Given the description of an element on the screen output the (x, y) to click on. 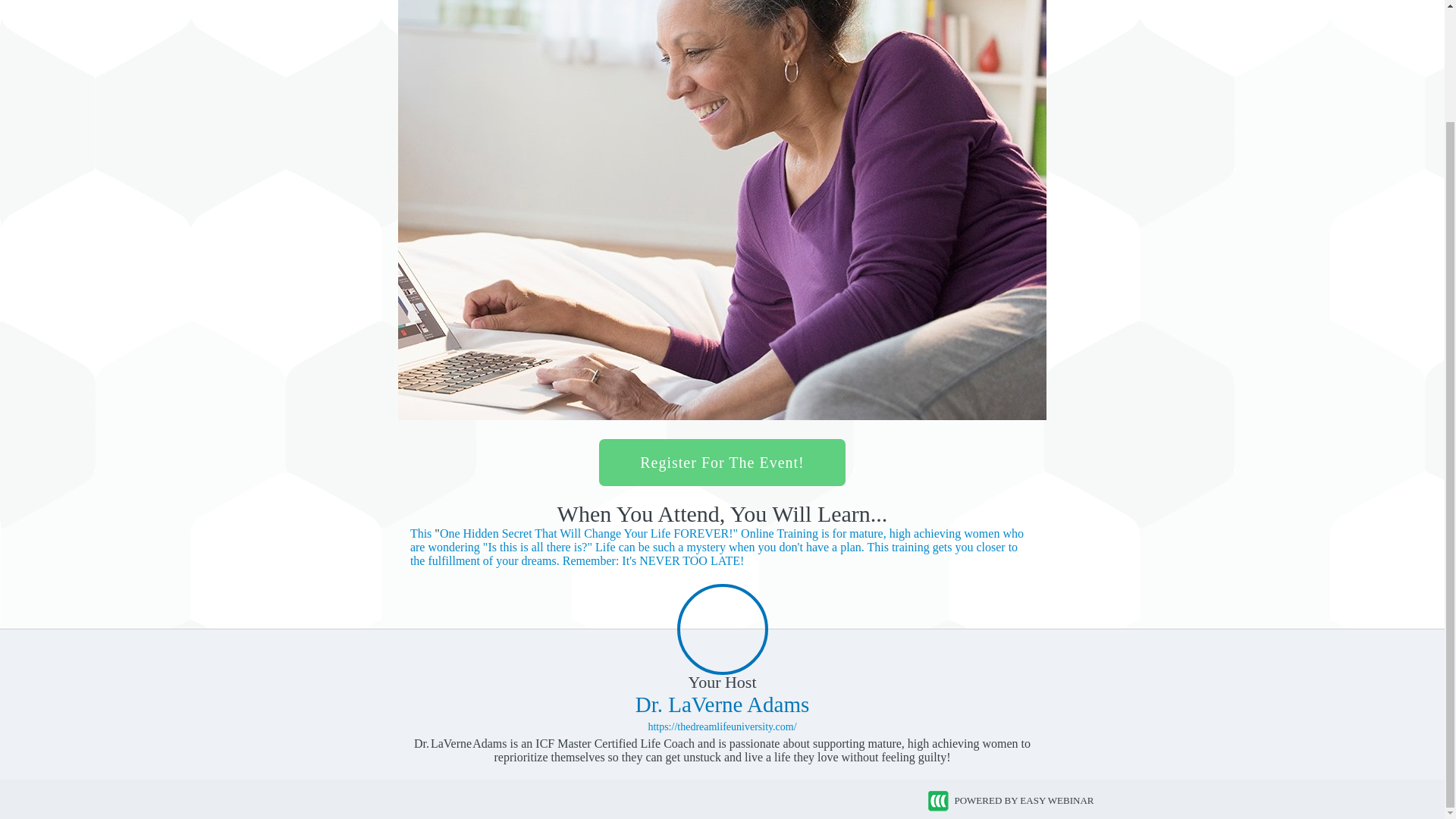
Register For The Event! (721, 462)
One Hidden Secret That Will Change Your Life FOREVER! (716, 547)
POWERED BY EASY WEBINAR (1010, 801)
One Hidden Secret That Will Change Your Life FOREVER! (630, 533)
This  (421, 533)
One Hidden Secret That Will Change Your Life FOREVER! (421, 533)
